Given the description of an element on the screen output the (x, y) to click on. 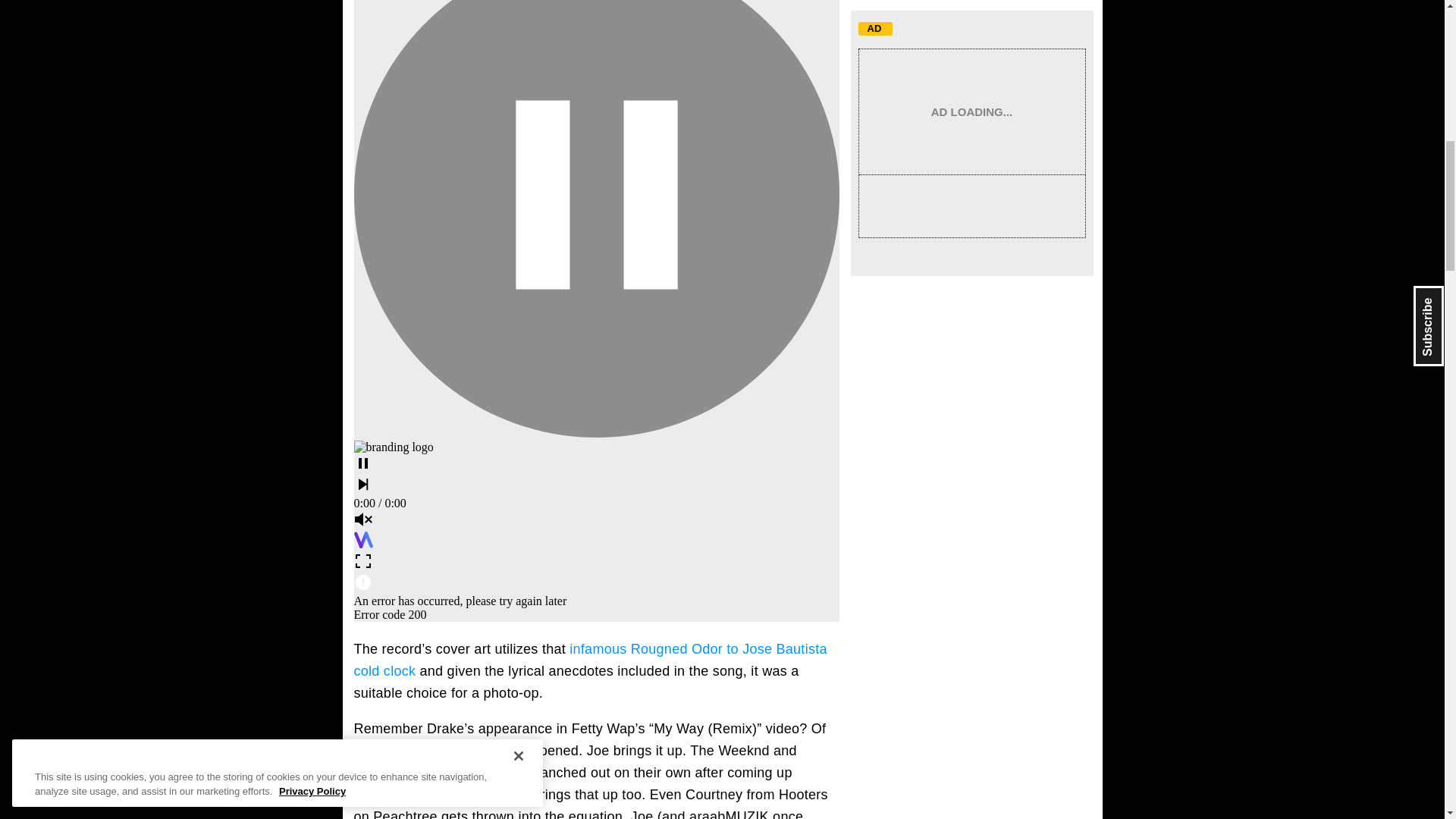
infamous Rougned Odor to Jose Bautista cold clock (590, 659)
